Given the description of an element on the screen output the (x, y) to click on. 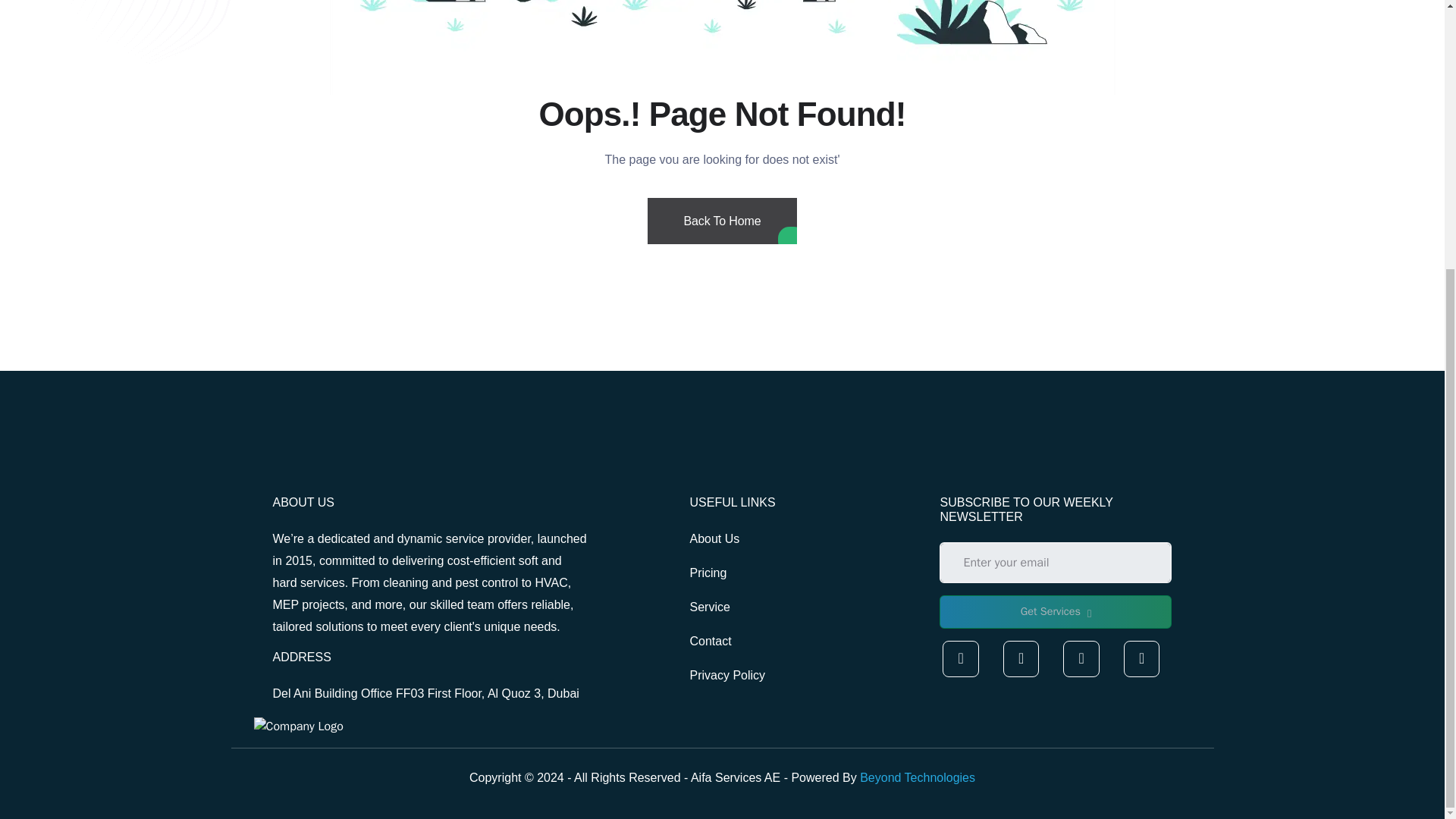
Service (708, 606)
Contact (709, 640)
Pricing (707, 572)
About Us (713, 538)
Back To Home (722, 240)
Get Services (1055, 611)
Privacy Policy (726, 675)
